Given the description of an element on the screen output the (x, y) to click on. 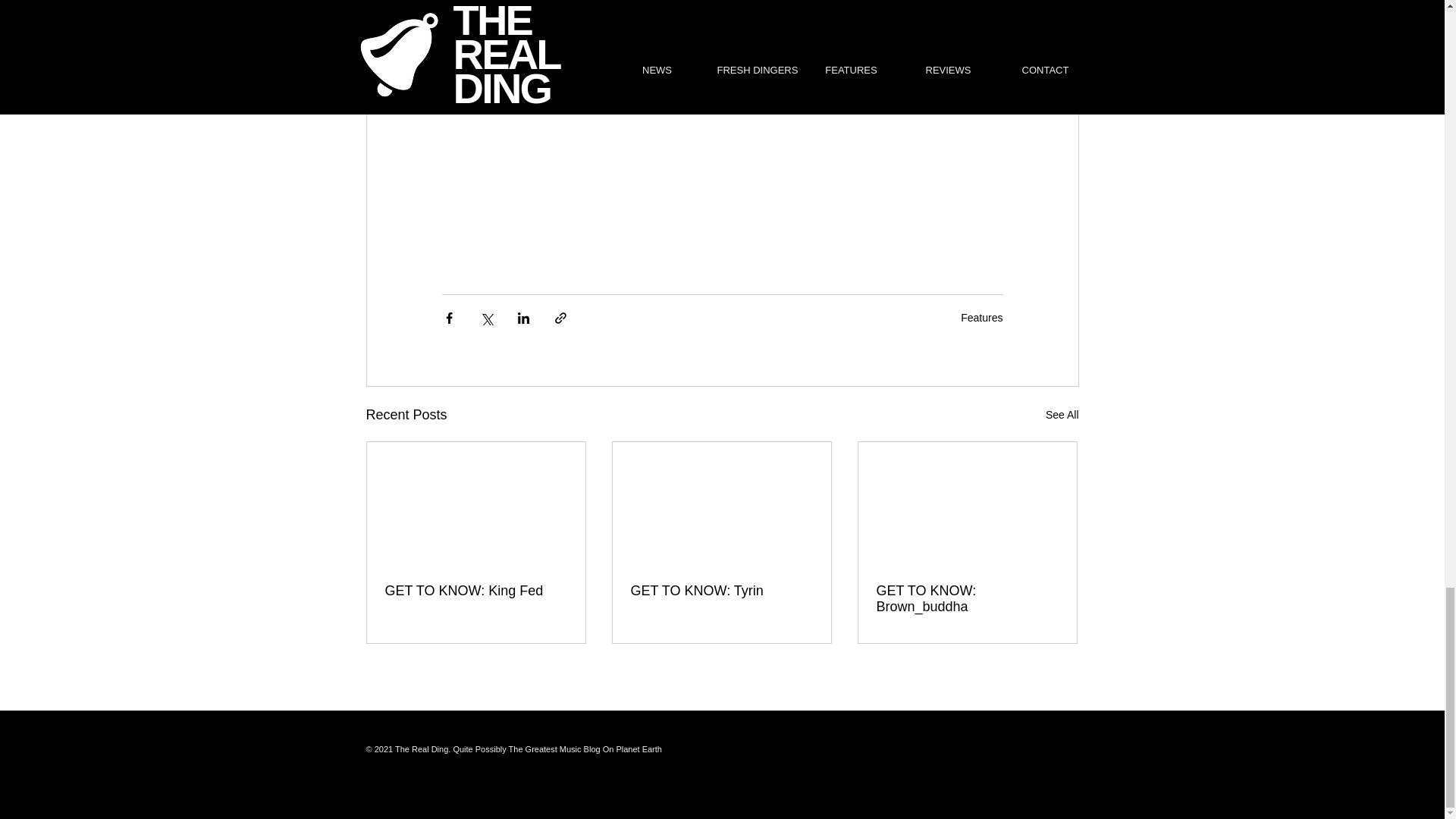
GET TO KNOW: Tyrin (721, 590)
GET TO KNOW: King Fed (476, 590)
Features (981, 317)
See All (1061, 414)
